Given the description of an element on the screen output the (x, y) to click on. 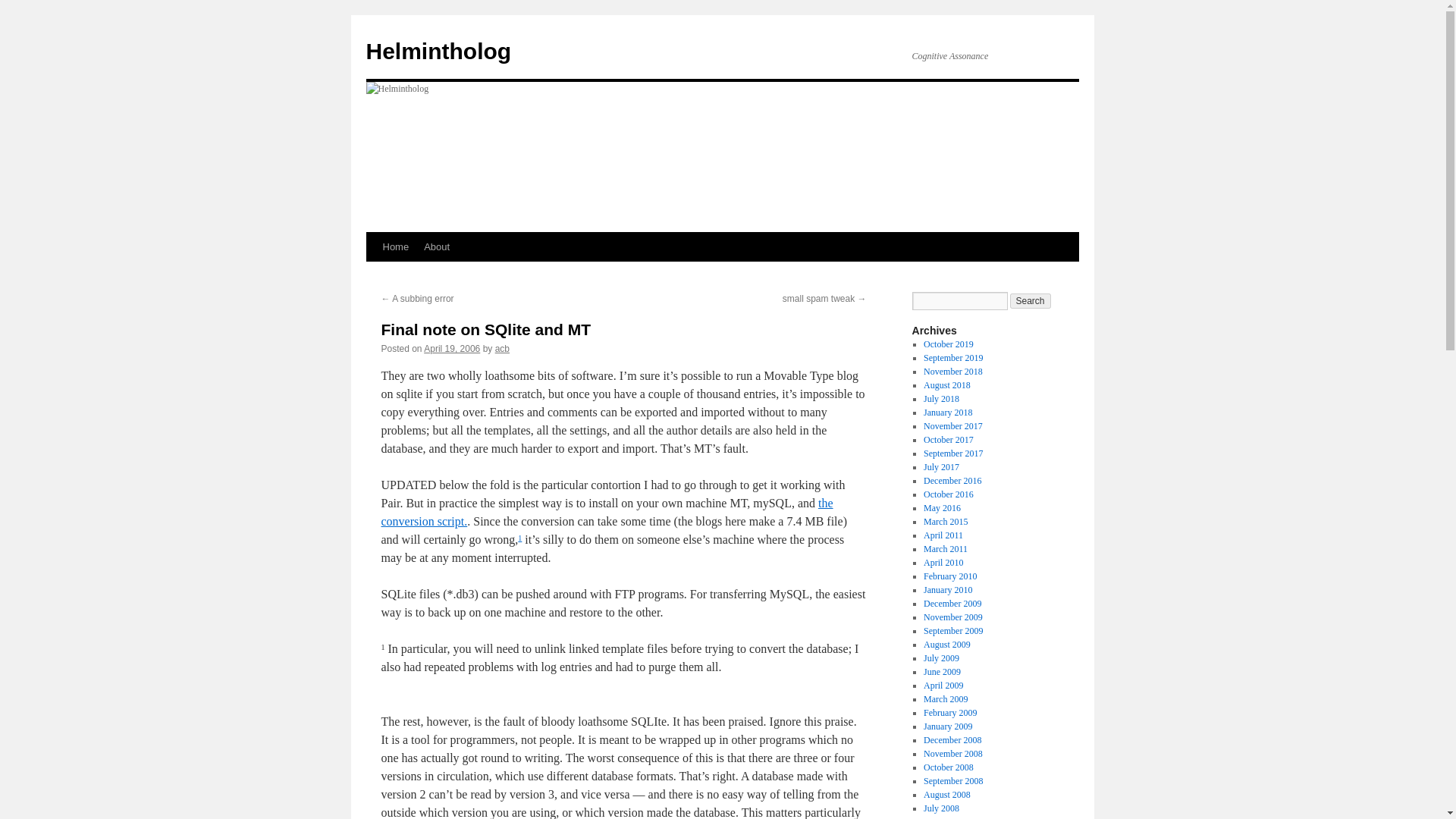
April 19, 2006 (451, 348)
Search (1030, 300)
Home (395, 246)
September 2017 (952, 452)
3:25 pm (451, 348)
July 2017 (941, 466)
March 2015 (945, 521)
acb (502, 348)
November 2017 (952, 425)
December 2009 (952, 603)
October 2016 (948, 493)
January 2018 (947, 412)
September 2019 (952, 357)
July 2018 (941, 398)
About (436, 246)
